Given the description of an element on the screen output the (x, y) to click on. 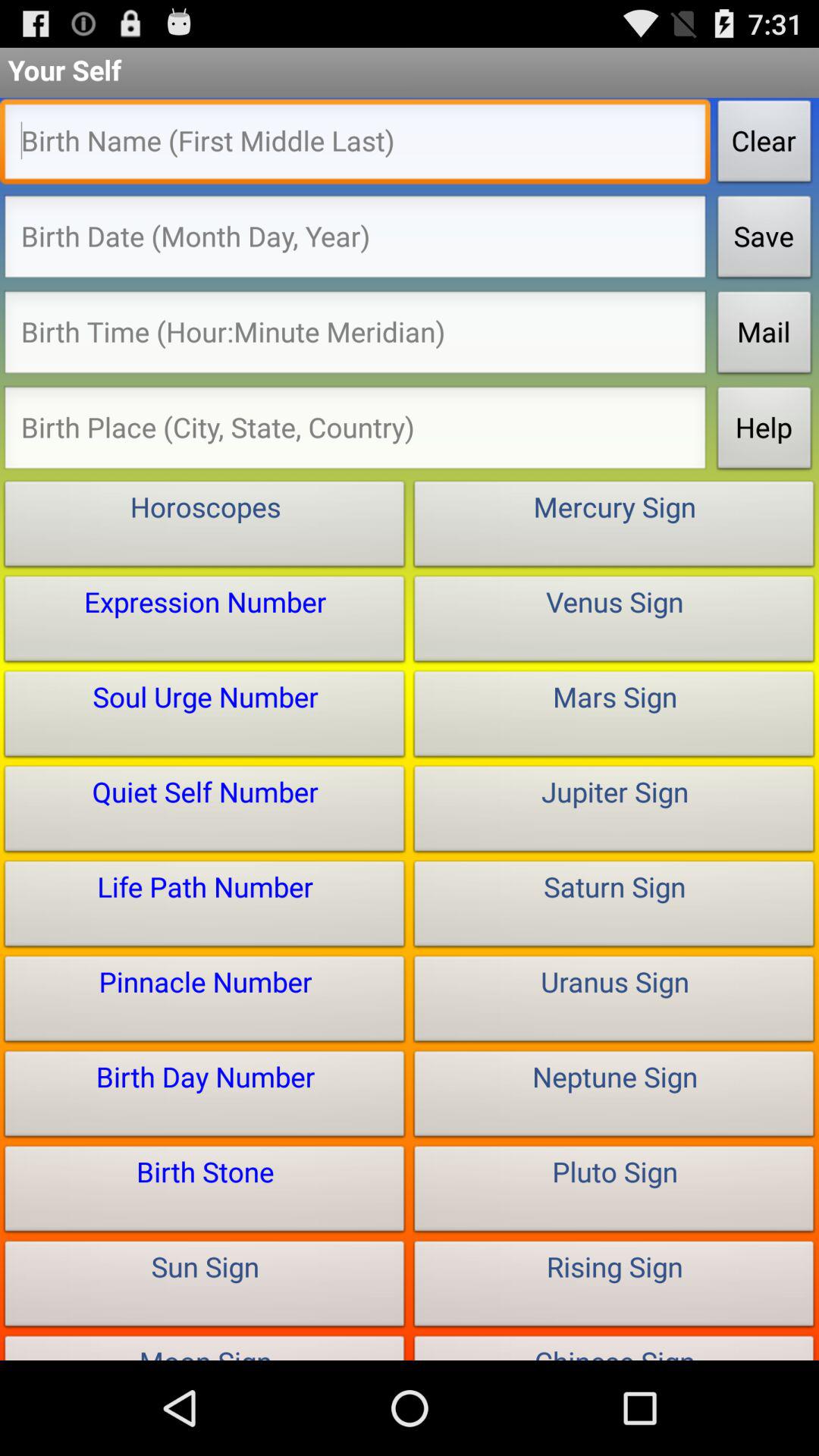
type birthdate (355, 240)
